Given the description of an element on the screen output the (x, y) to click on. 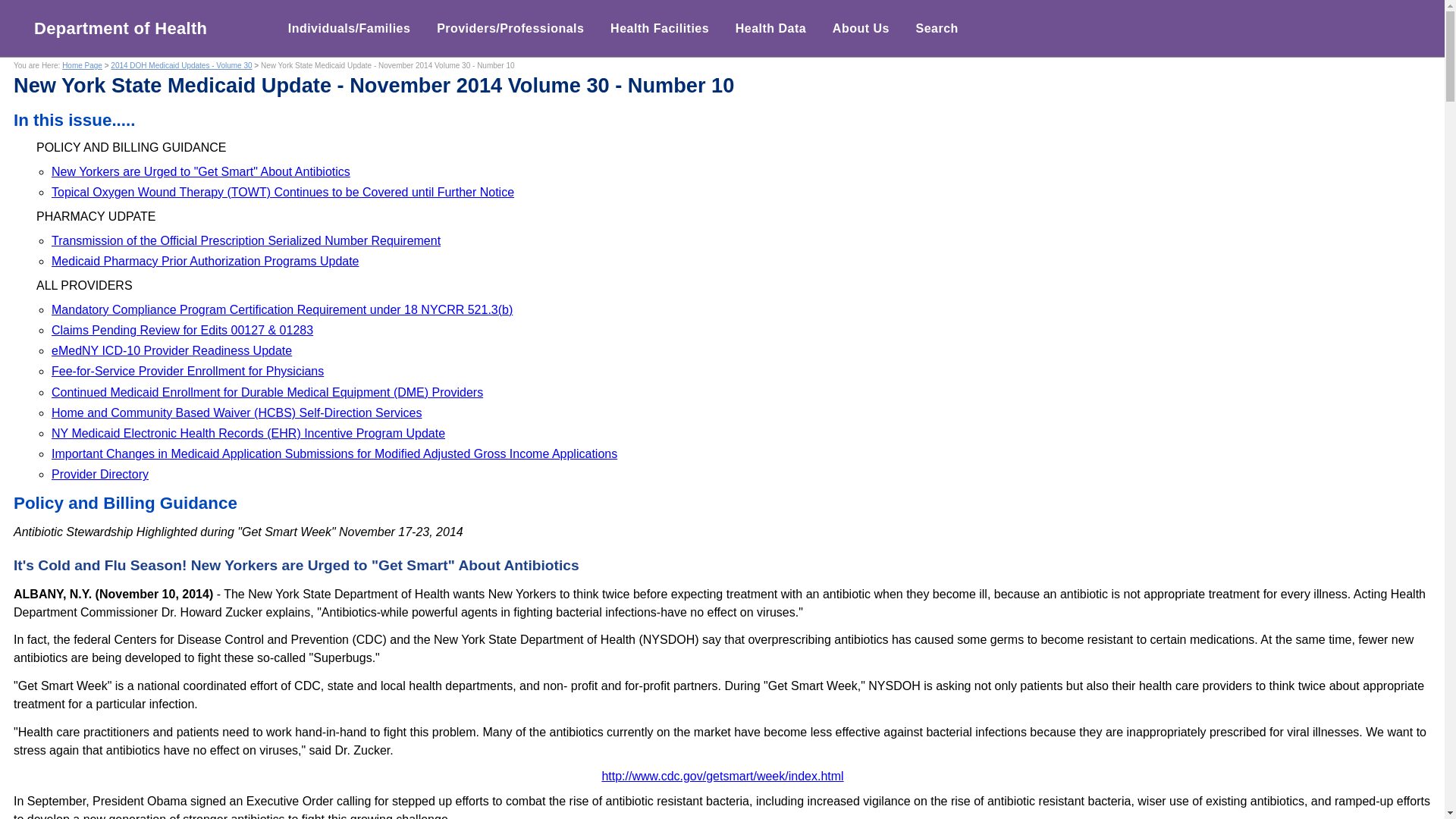
Health Facilities (659, 28)
Department of Health (114, 28)
Health Data (769, 28)
